Given the description of an element on the screen output the (x, y) to click on. 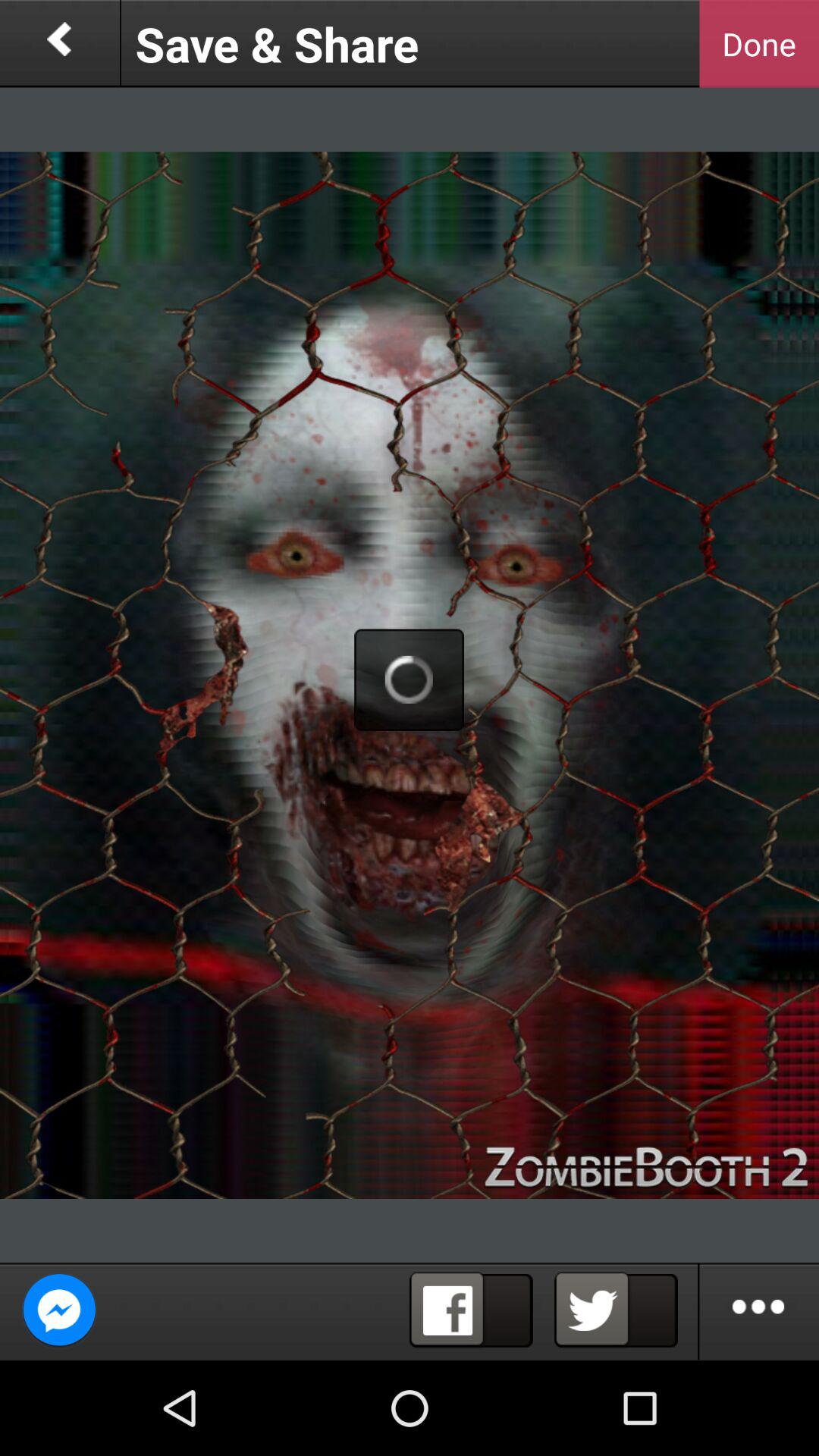
more options (759, 1310)
